Given the description of an element on the screen output the (x, y) to click on. 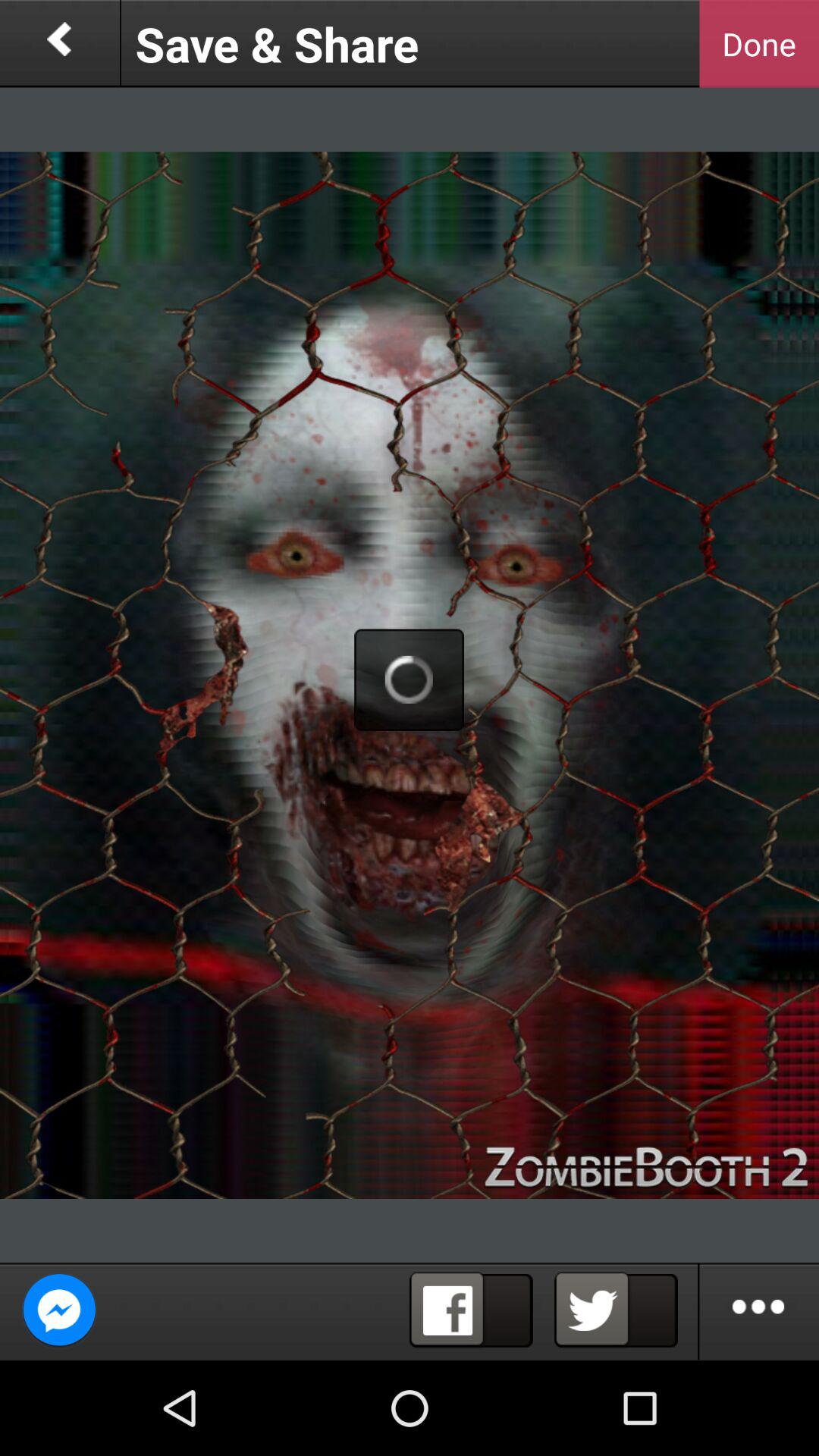
more options (759, 1310)
